Given the description of an element on the screen output the (x, y) to click on. 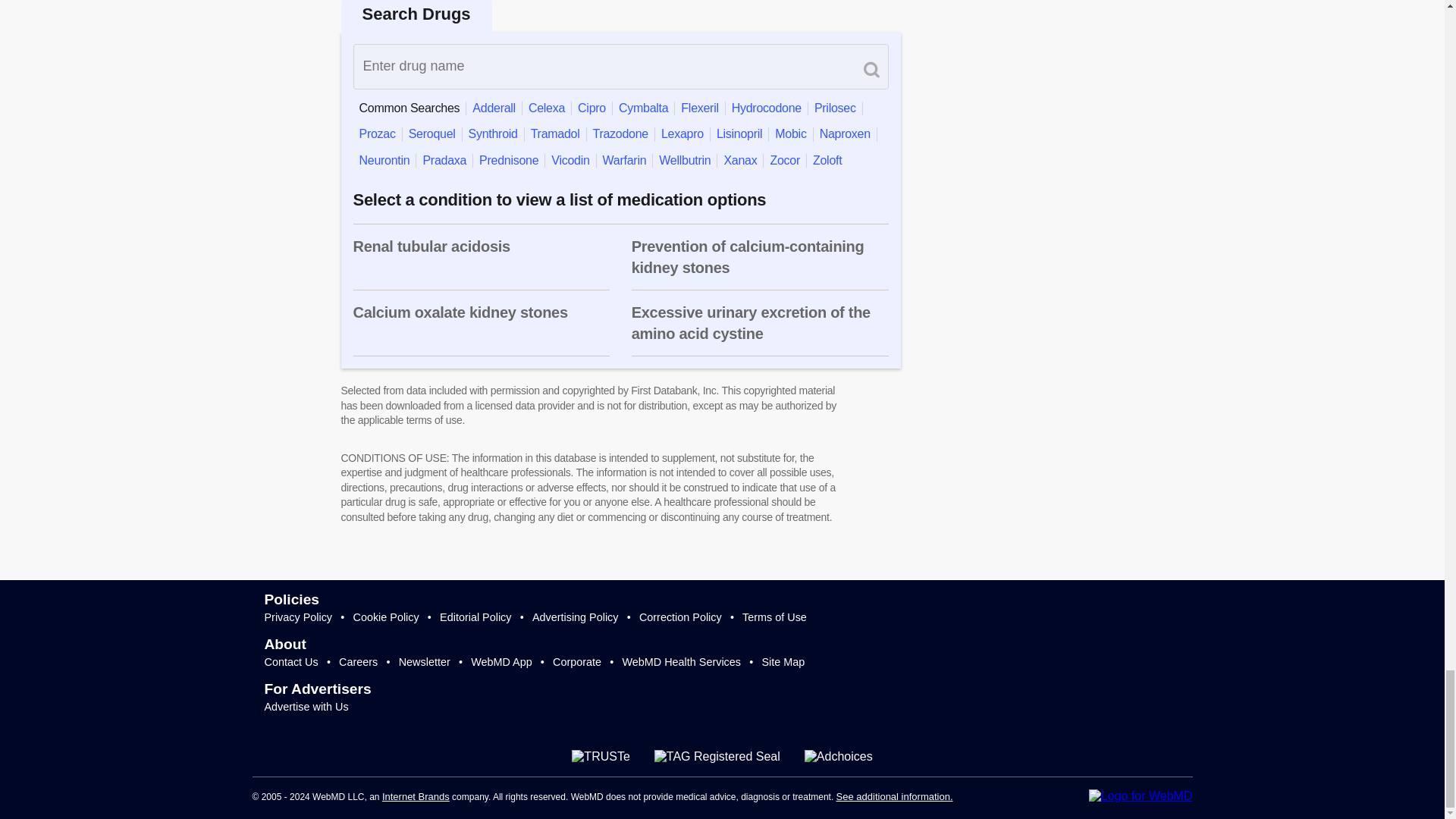
WebMD: Better information. Better health. (1140, 796)
TRUSTe Privacy Certification (600, 756)
TAG Registered Seal (716, 756)
Adchoices (838, 756)
